Given the description of an element on the screen output the (x, y) to click on. 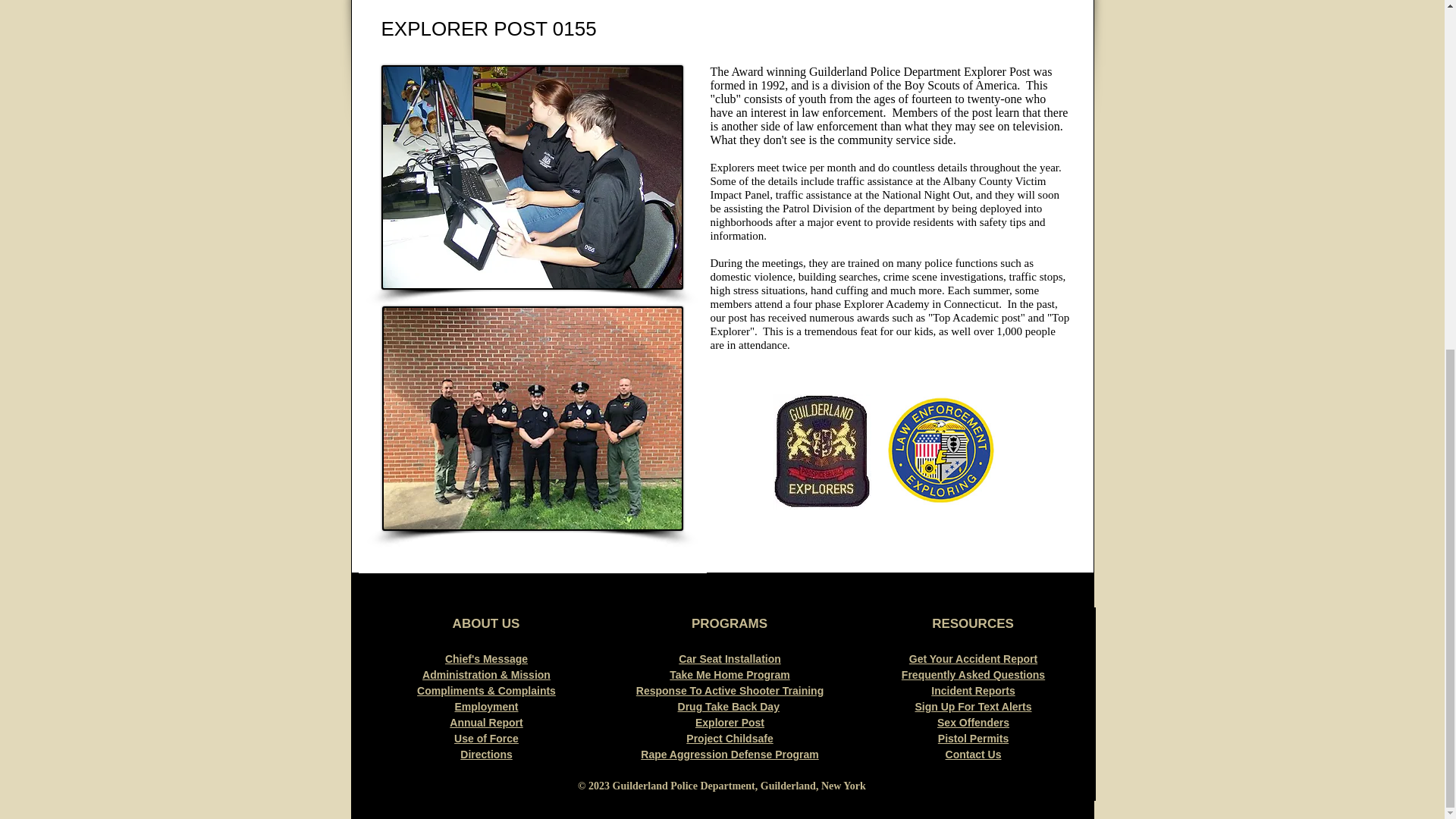
exploring.jpg (941, 451)
Chief's Message (486, 658)
Guilderland Police Exporers (531, 177)
Guilderland Police Explorers (531, 418)
